Given the description of an element on the screen output the (x, y) to click on. 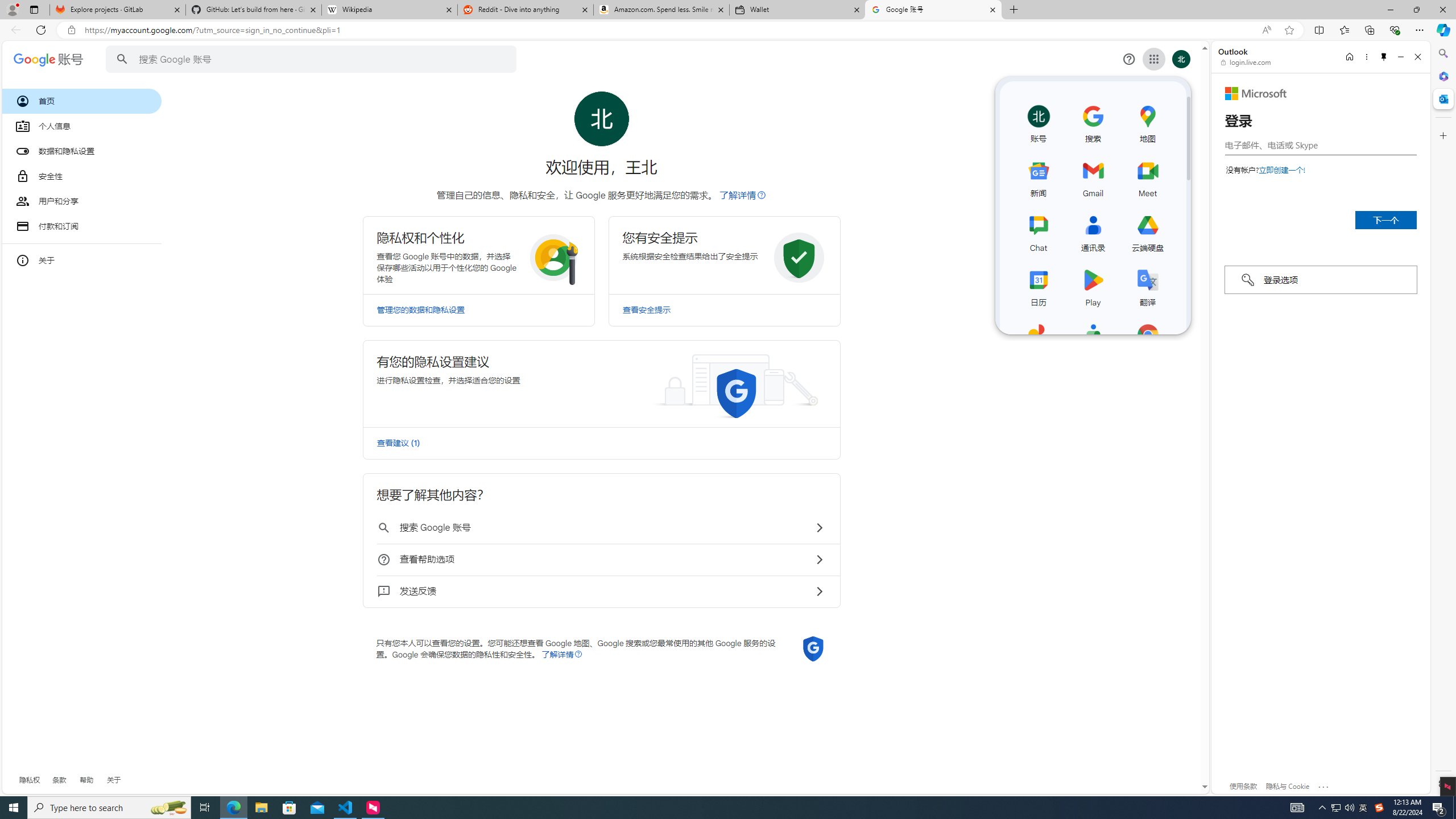
login.live.com (1246, 61)
Class: gb_E (1153, 59)
Meet (1147, 176)
